Given the description of an element on the screen output the (x, y) to click on. 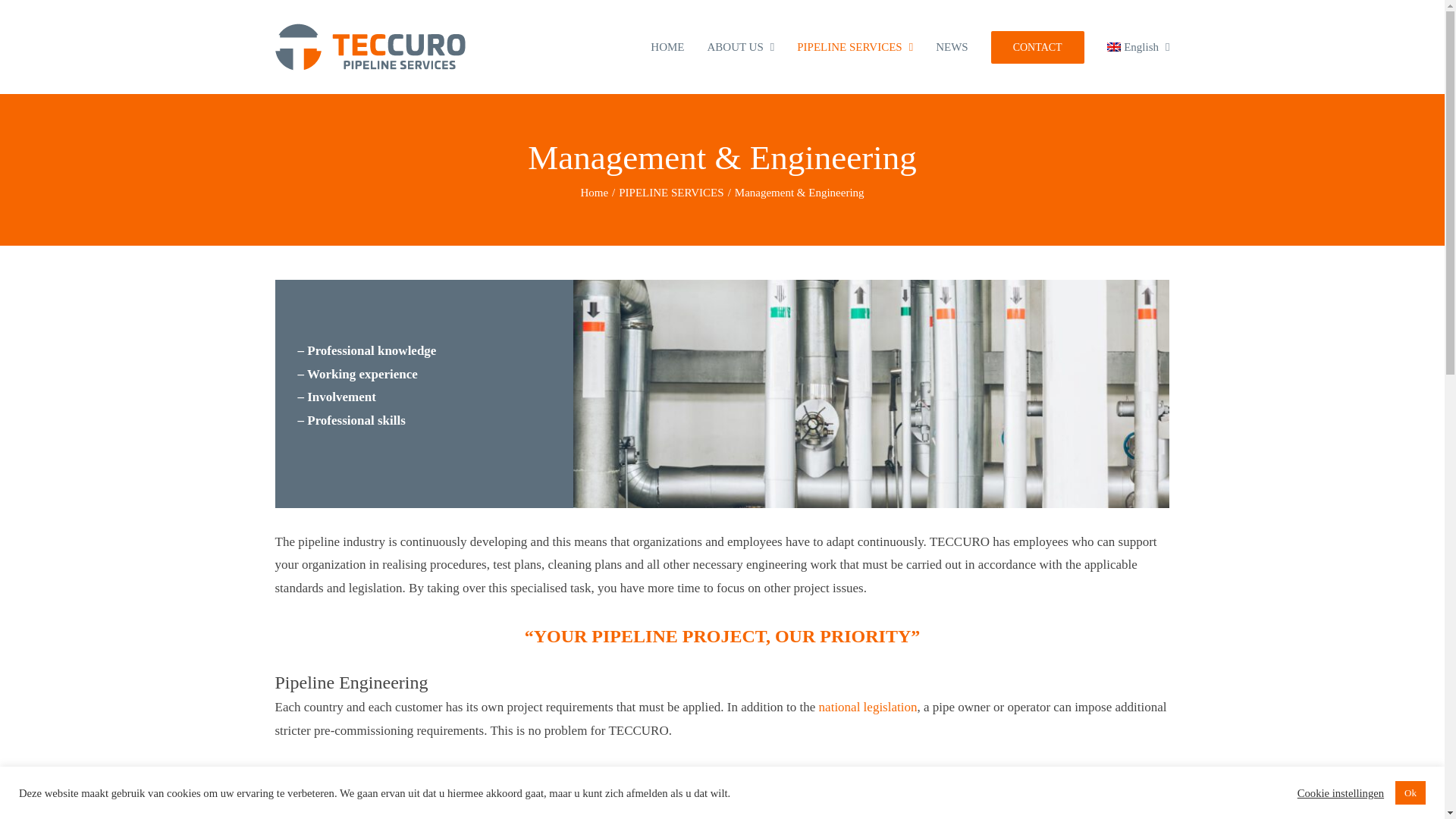
PIPELINE SERVICES (854, 47)
CONTACT (1037, 47)
NEWS (952, 47)
ABOUT US (740, 47)
HOME (667, 47)
English (1138, 47)
English (1138, 47)
